Given the description of an element on the screen output the (x, y) to click on. 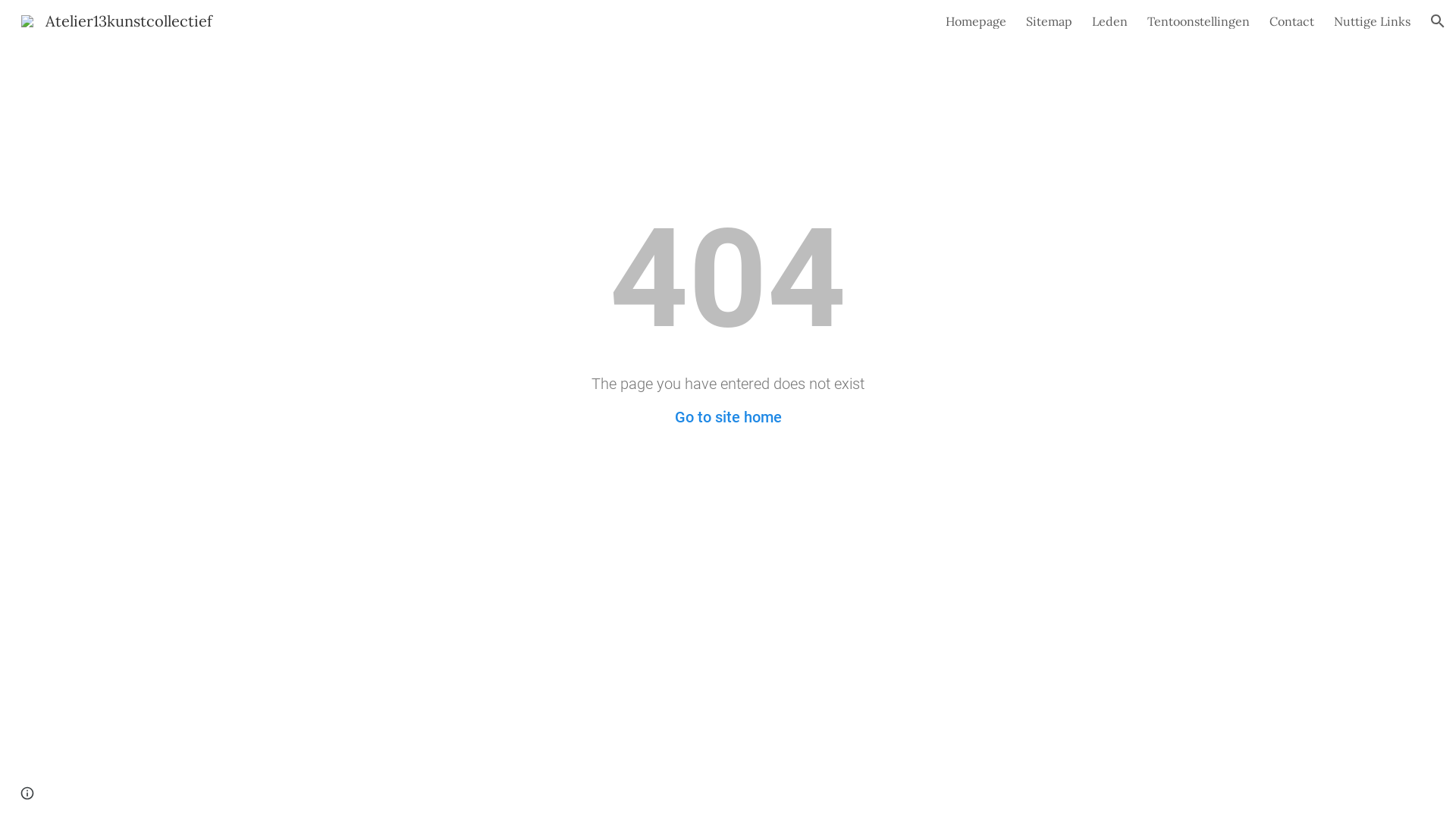
Nuttige Links Element type: text (1371, 20)
Atelier13kunstcollectief Element type: text (116, 18)
Contact Element type: text (1291, 20)
Go to site home Element type: text (727, 416)
Tentoonstellingen Element type: text (1198, 20)
Sitemap Element type: text (1049, 20)
Homepage Element type: text (975, 20)
Leden Element type: text (1109, 20)
